Given the description of an element on the screen output the (x, y) to click on. 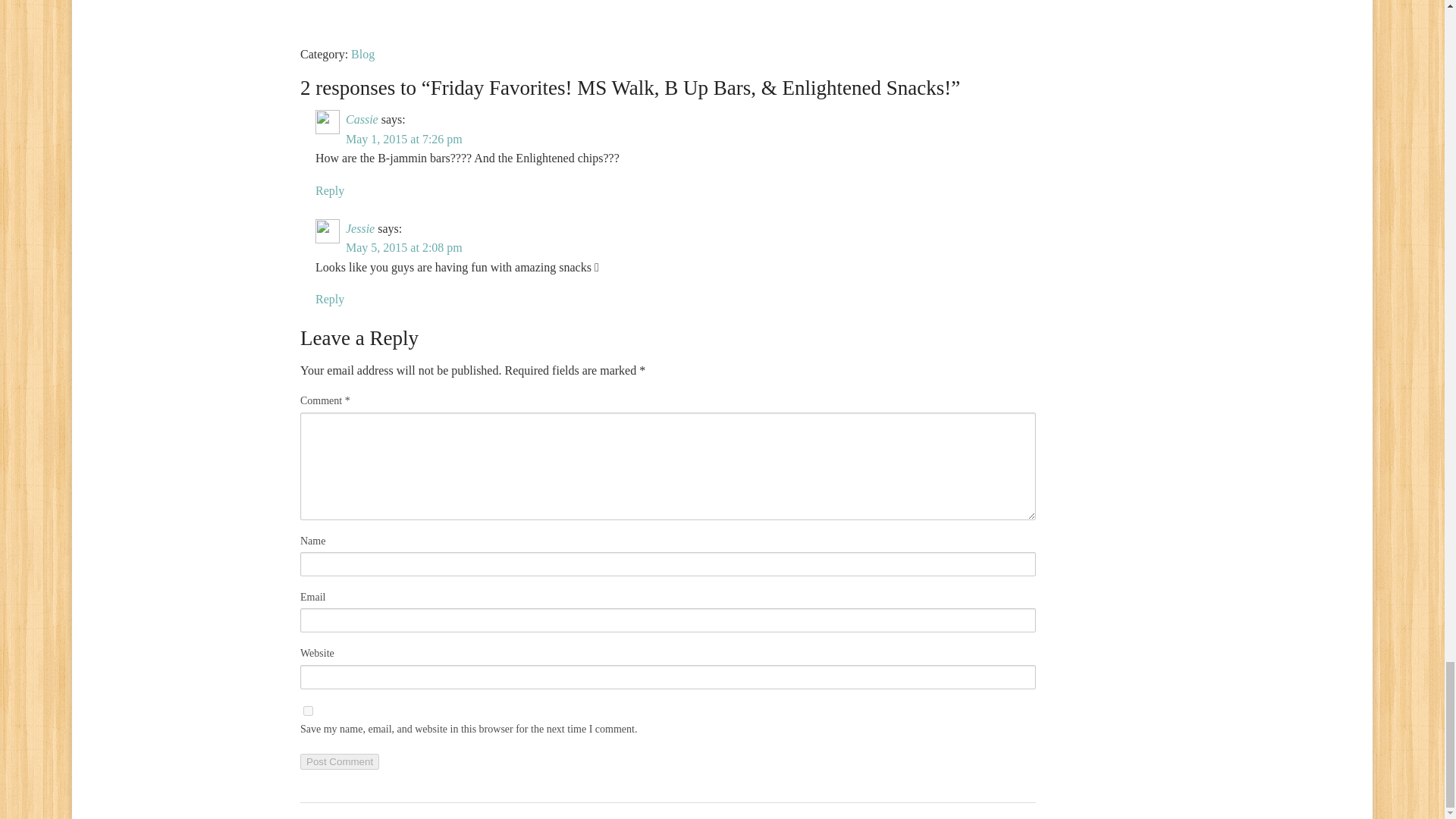
Cassie (362, 119)
Jessie (360, 228)
Blog (362, 53)
Post Comment (338, 761)
yes (307, 710)
May 5, 2015 at 2:08 pm (404, 246)
May 1, 2015 at 7:26 pm (404, 138)
Reply (329, 190)
Post Comment (338, 761)
Reply (329, 298)
